Given the description of an element on the screen output the (x, y) to click on. 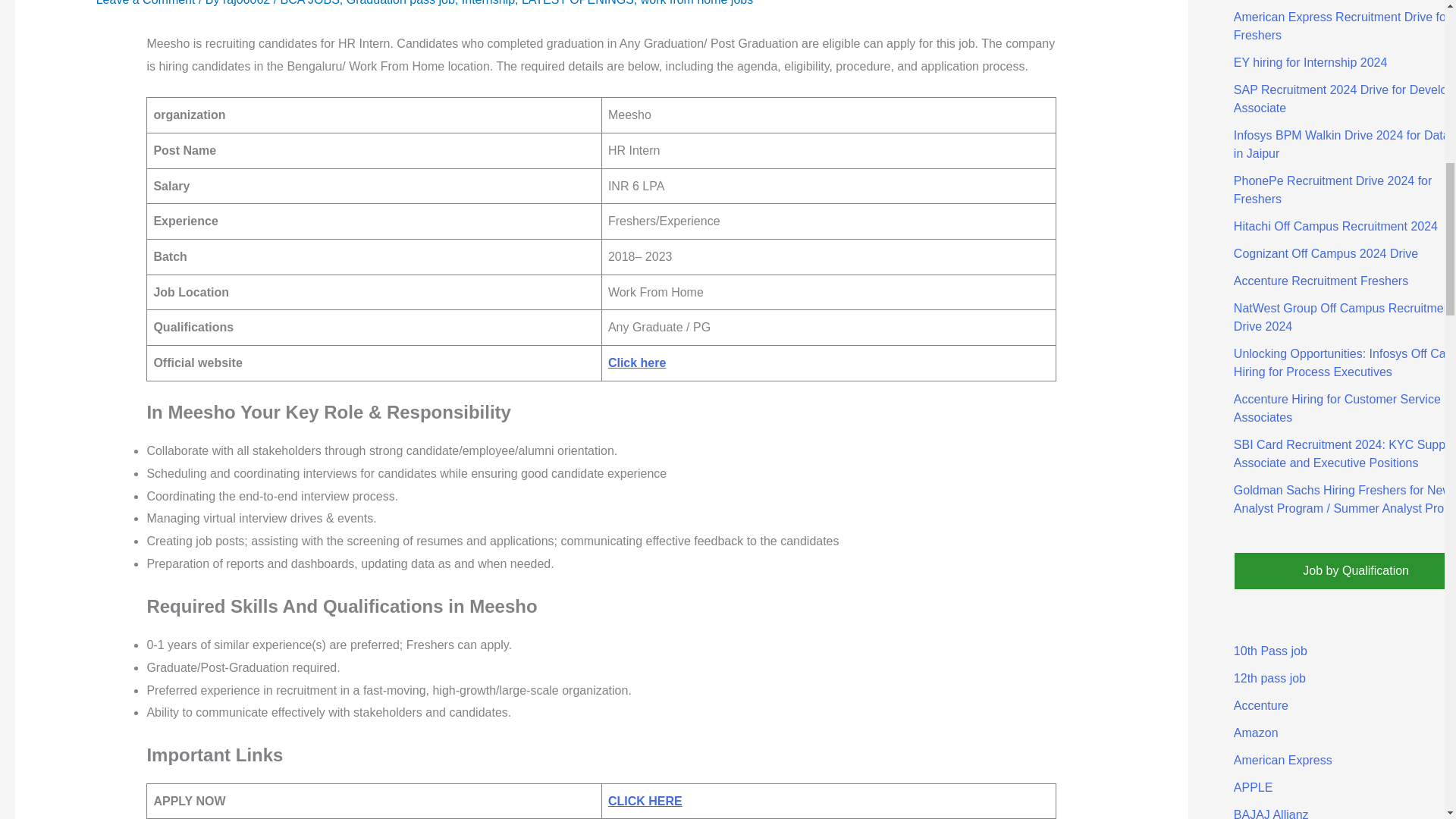
work from home jobs (697, 2)
LATEST OPENINGS (577, 2)
Click here (636, 362)
raj06062 (247, 2)
Leave a Comment (145, 2)
BCA JOBS (310, 2)
Internship (488, 2)
CLICK HERE (645, 800)
Graduation pass job (400, 2)
View all posts by raj06062 (247, 2)
